Given the description of an element on the screen output the (x, y) to click on. 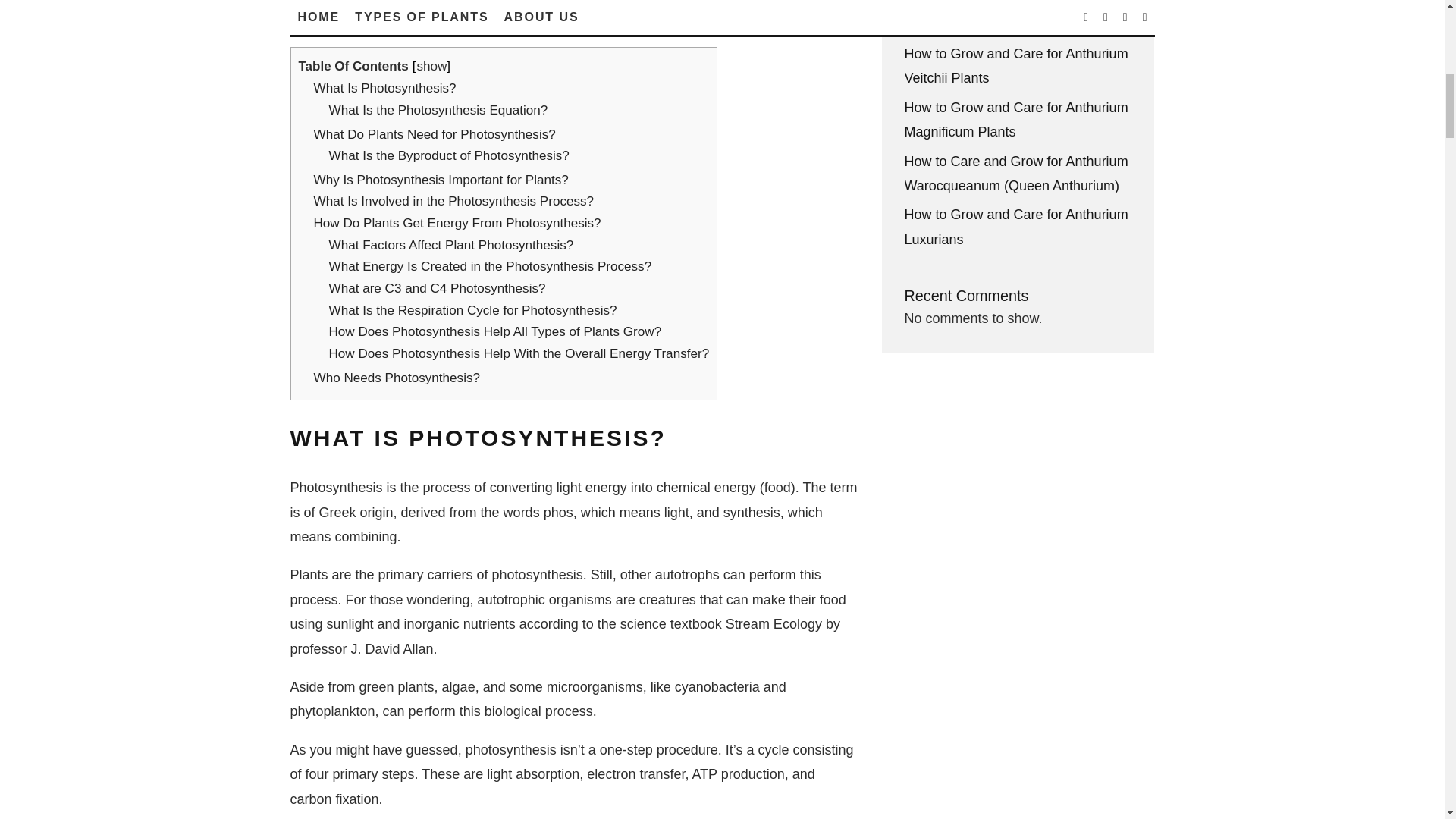
What Factors Affect Plant Photosynthesis? (451, 245)
Why Is Photosynthesis Important for Plants? (441, 179)
What Energy Is Created in the Photosynthesis Process? (490, 266)
What Is the Byproduct of Photosynthesis? (449, 155)
What Do Plants Need for Photosynthesis? (435, 134)
How Do Plants Get Energy From Photosynthesis? (457, 223)
How Does Photosynthesis Help All Types of Plants Grow? (495, 331)
Who Needs Photosynthesis? (397, 377)
What are C3 and C4 Photosynthesis? (437, 288)
What Is the Respiration Cycle for Photosynthesis? (473, 310)
What Is Involved in the Photosynthesis Process? (454, 201)
What Is the Photosynthesis Equation? (438, 110)
What Is Photosynthesis? (385, 88)
